Given the description of an element on the screen output the (x, y) to click on. 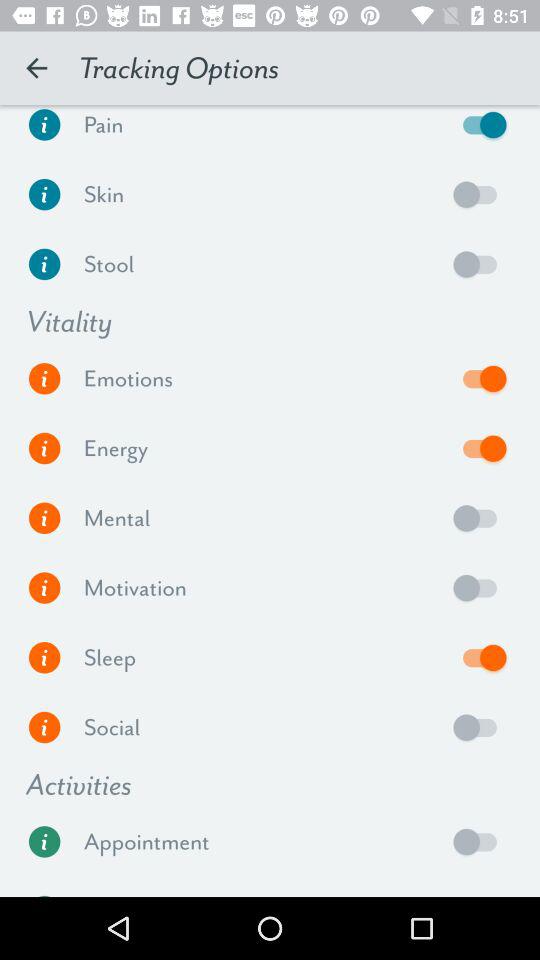
more info (44, 263)
